Given the description of an element on the screen output the (x, y) to click on. 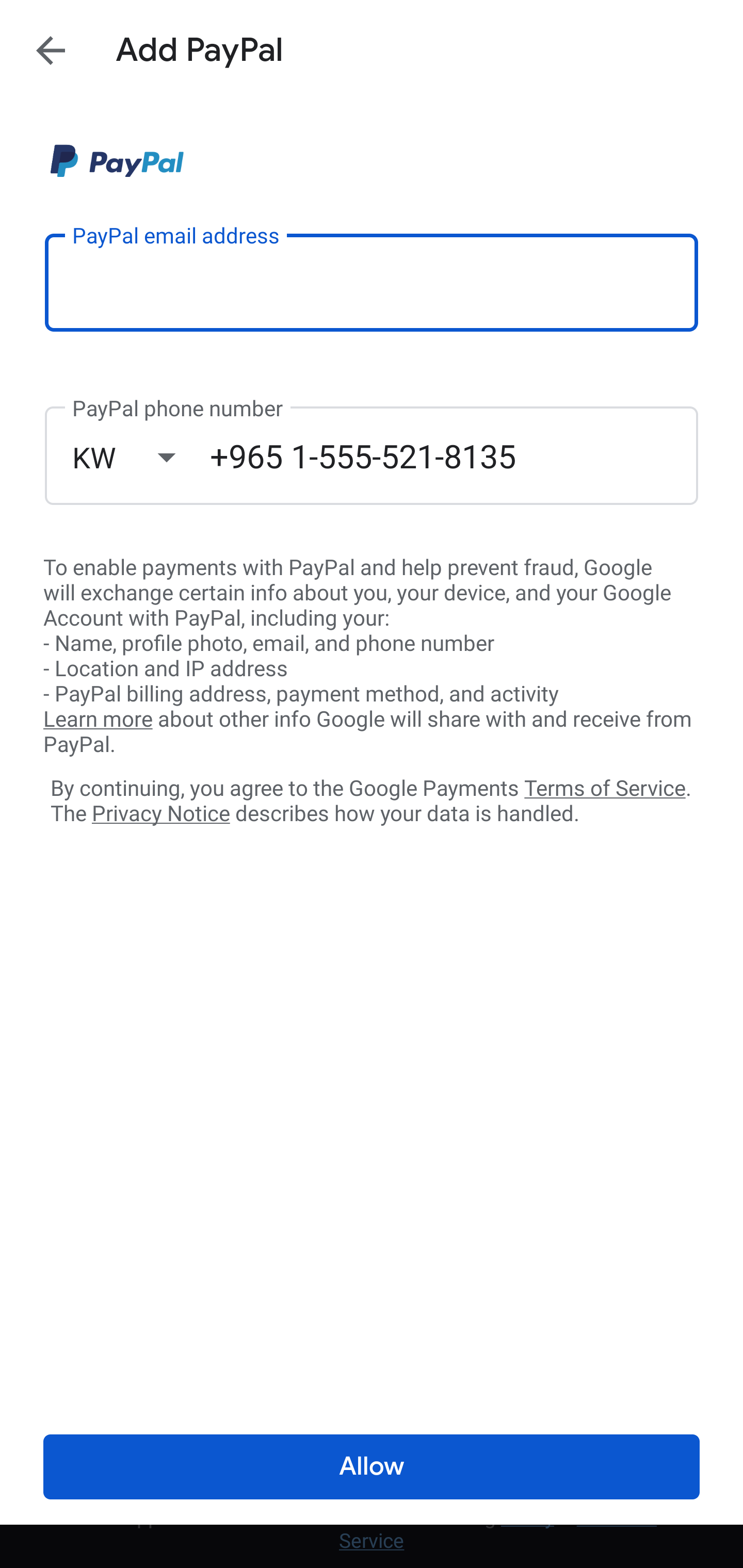
Navigate up (50, 50)
PayPal email address (371, 282)
KW (141, 456)
Learn more (97, 719)
Terms of Service (604, 787)
Privacy Notice (160, 814)
Allow (371, 1466)
